Given the description of an element on the screen output the (x, y) to click on. 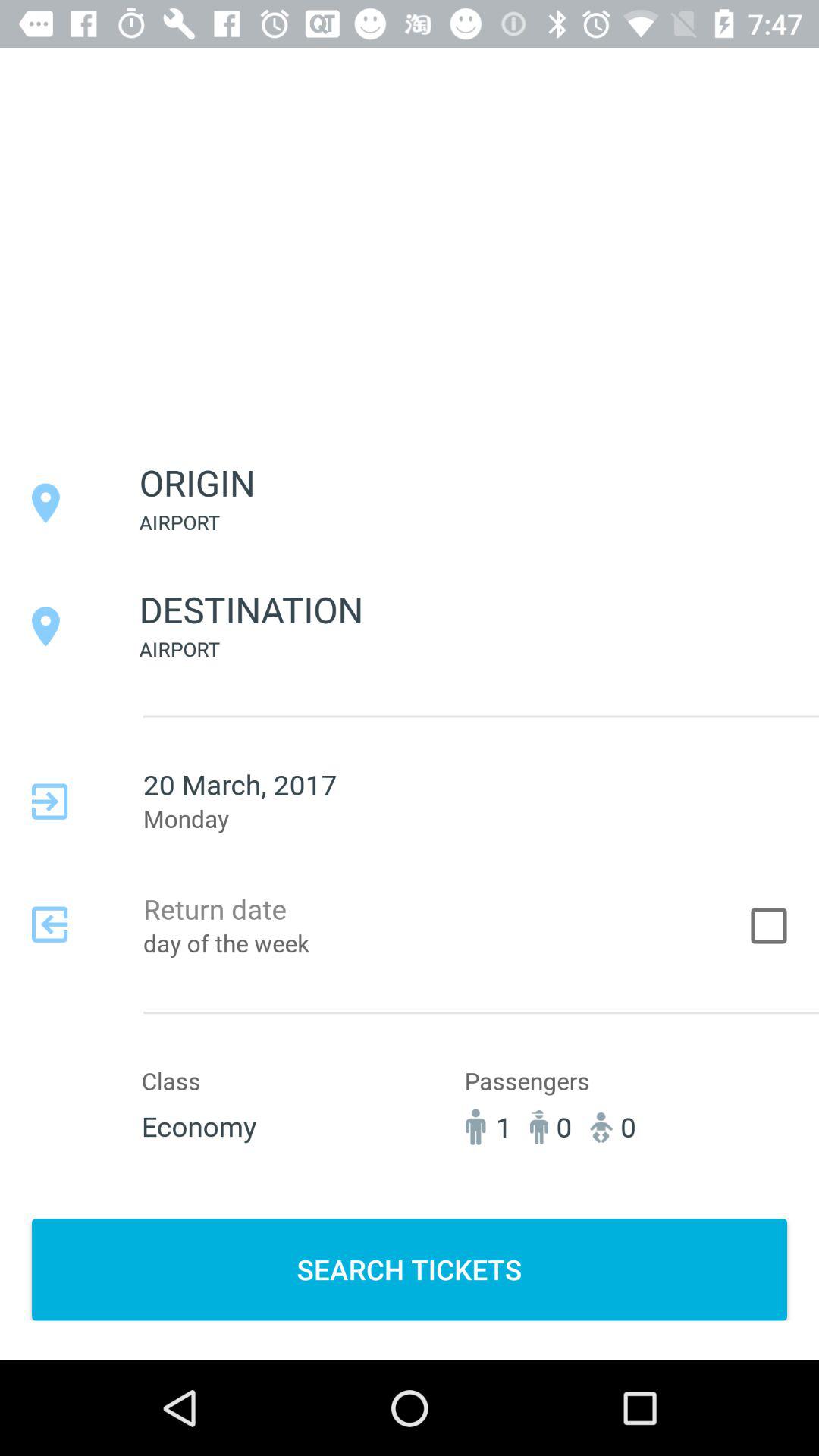
click the item below 1 item (409, 1269)
